Given the description of an element on the screen output the (x, y) to click on. 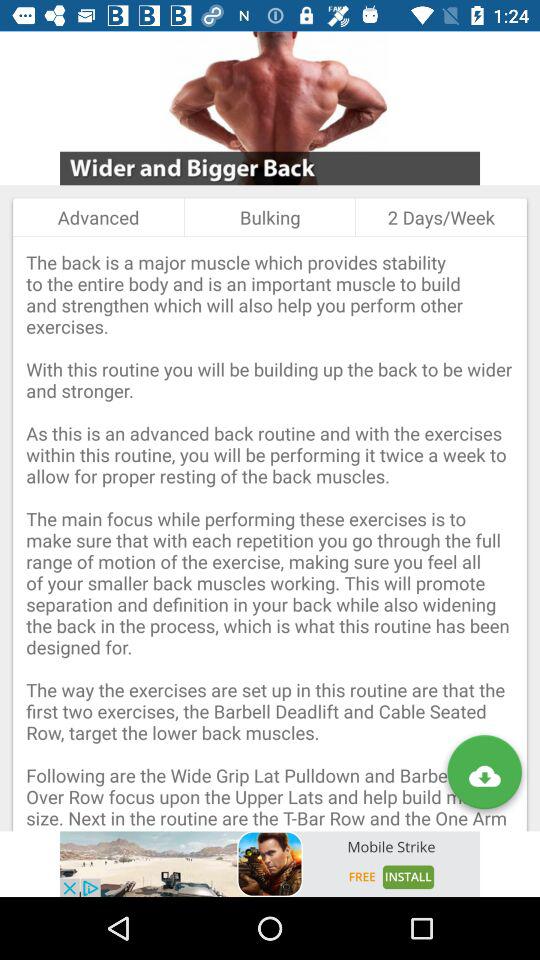
cookies (270, 864)
